Given the description of an element on the screen output the (x, y) to click on. 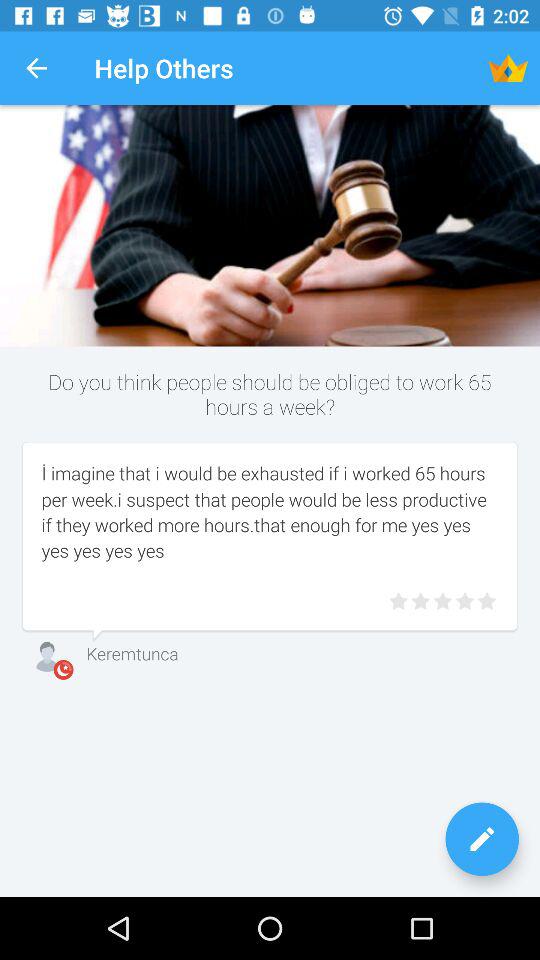
write comment (482, 839)
